Given the description of an element on the screen output the (x, y) to click on. 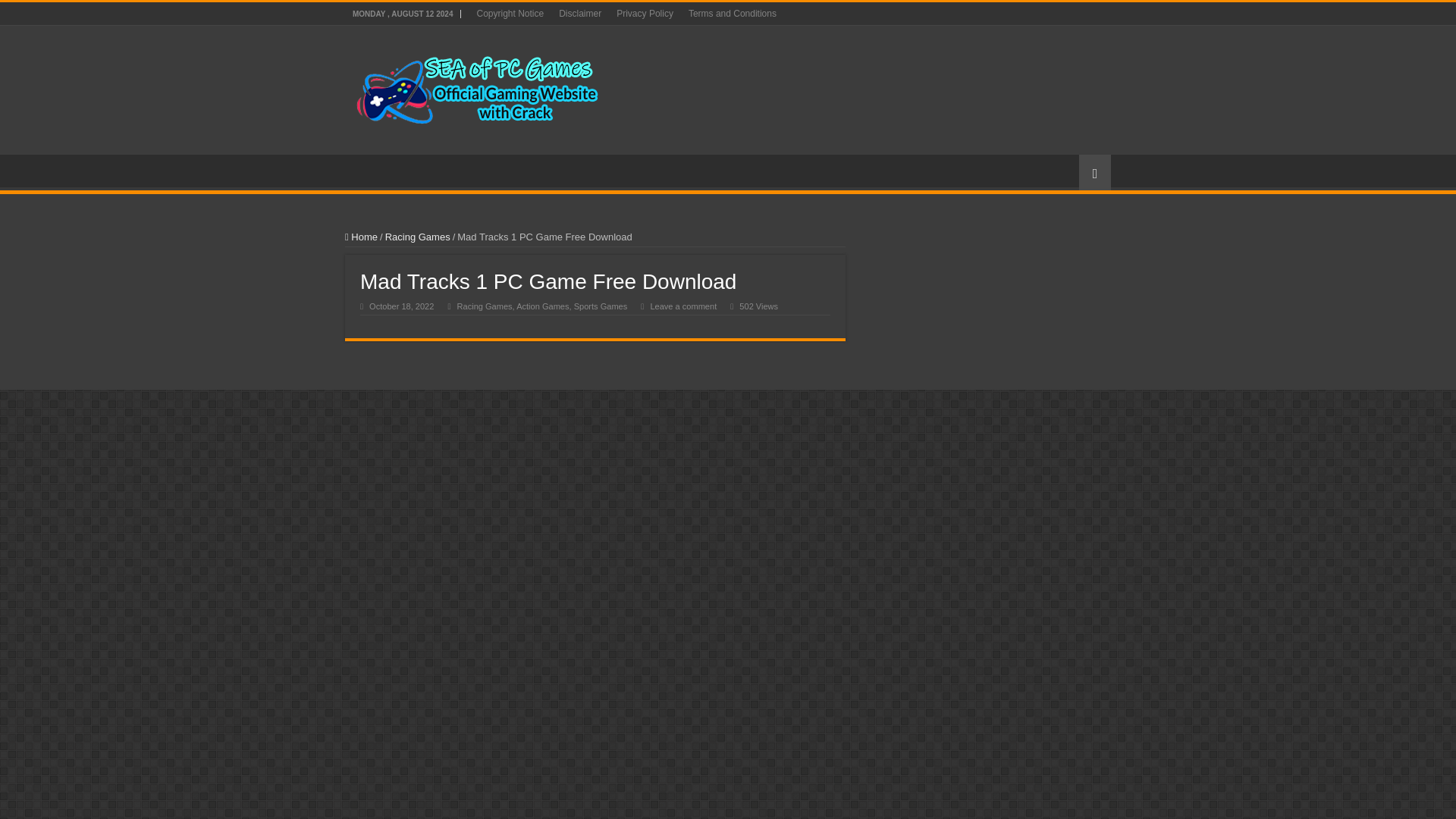
Terms and Conditions (732, 13)
Home (361, 236)
Action Games (542, 306)
Racing Games (417, 236)
Privacy Policy (644, 13)
Sports Games (600, 306)
Copyright Notice (509, 13)
Leave a comment (682, 306)
Disclaimer (579, 13)
Sea of PC Games (477, 86)
